Given the description of an element on the screen output the (x, y) to click on. 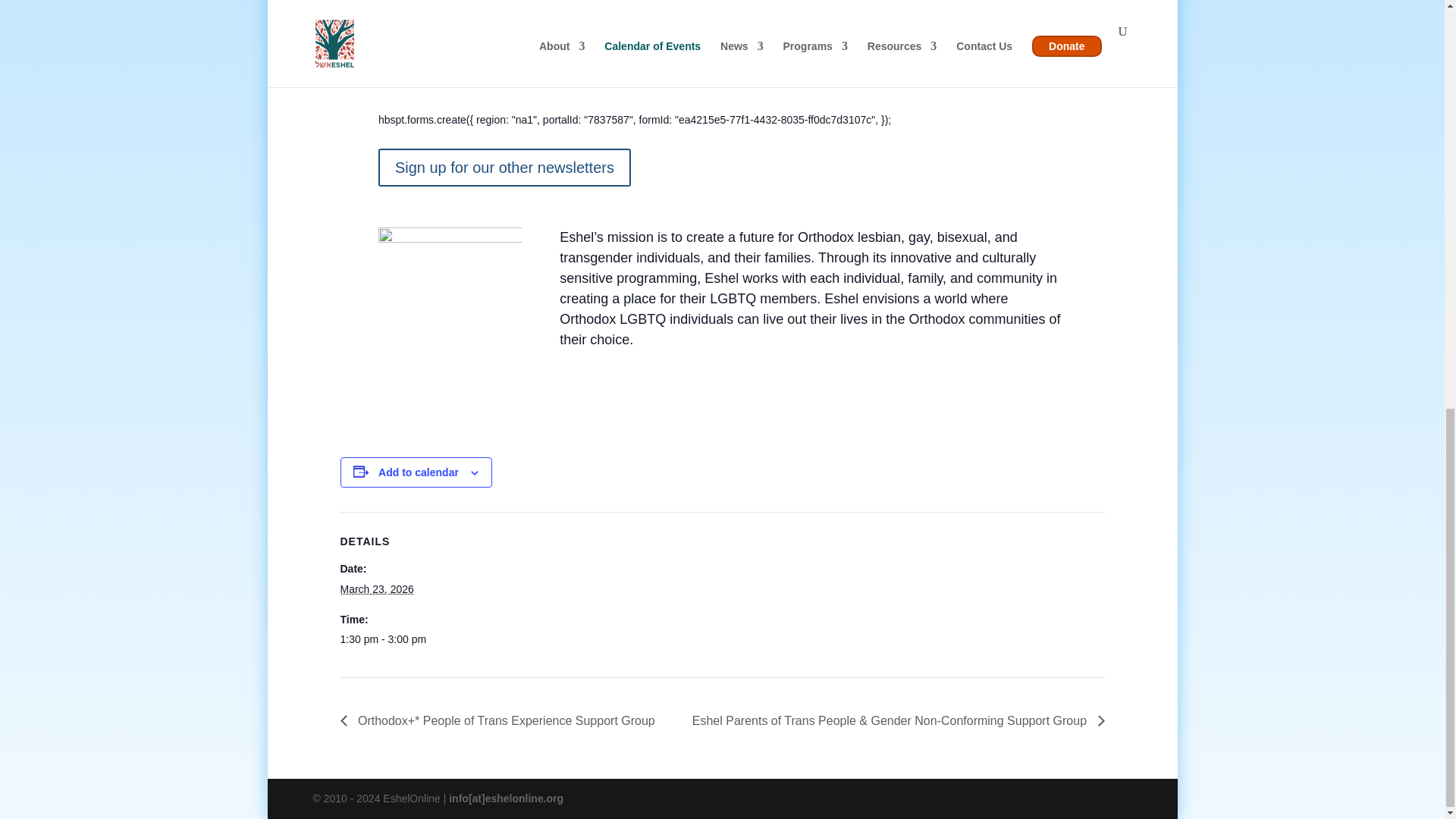
eshel-logo (449, 279)
2026-03-23 (376, 589)
Sign up for our other newsletters (504, 167)
2026-03-23 (403, 639)
Add to calendar (418, 472)
